Given the description of an element on the screen output the (x, y) to click on. 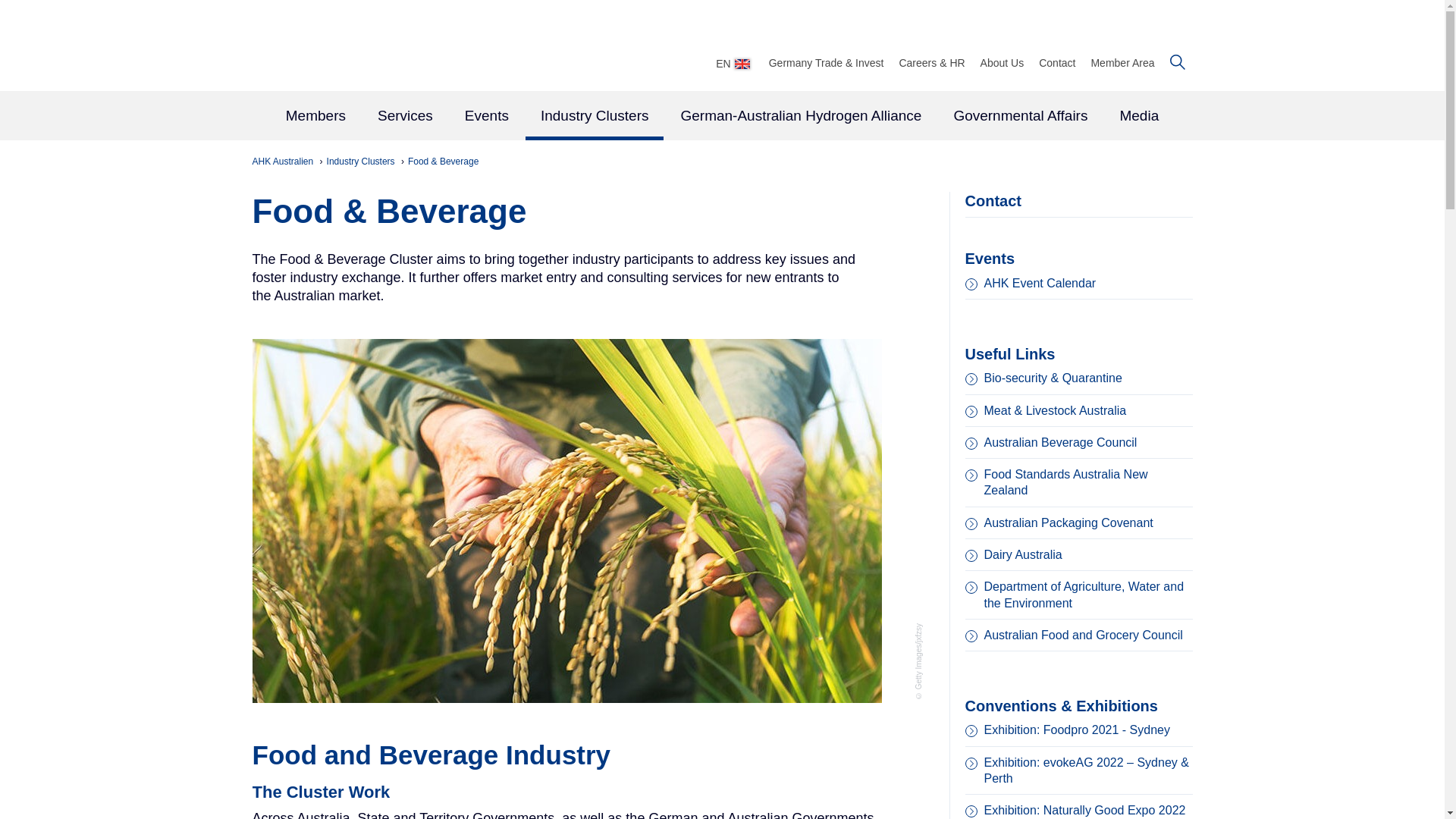
Contact (1057, 62)
AHK Australien (283, 161)
suchen (1177, 61)
Member Area (1122, 62)
Main (721, 117)
About Us (1002, 62)
Industry Clusters (361, 161)
